Given the description of an element on the screen output the (x, y) to click on. 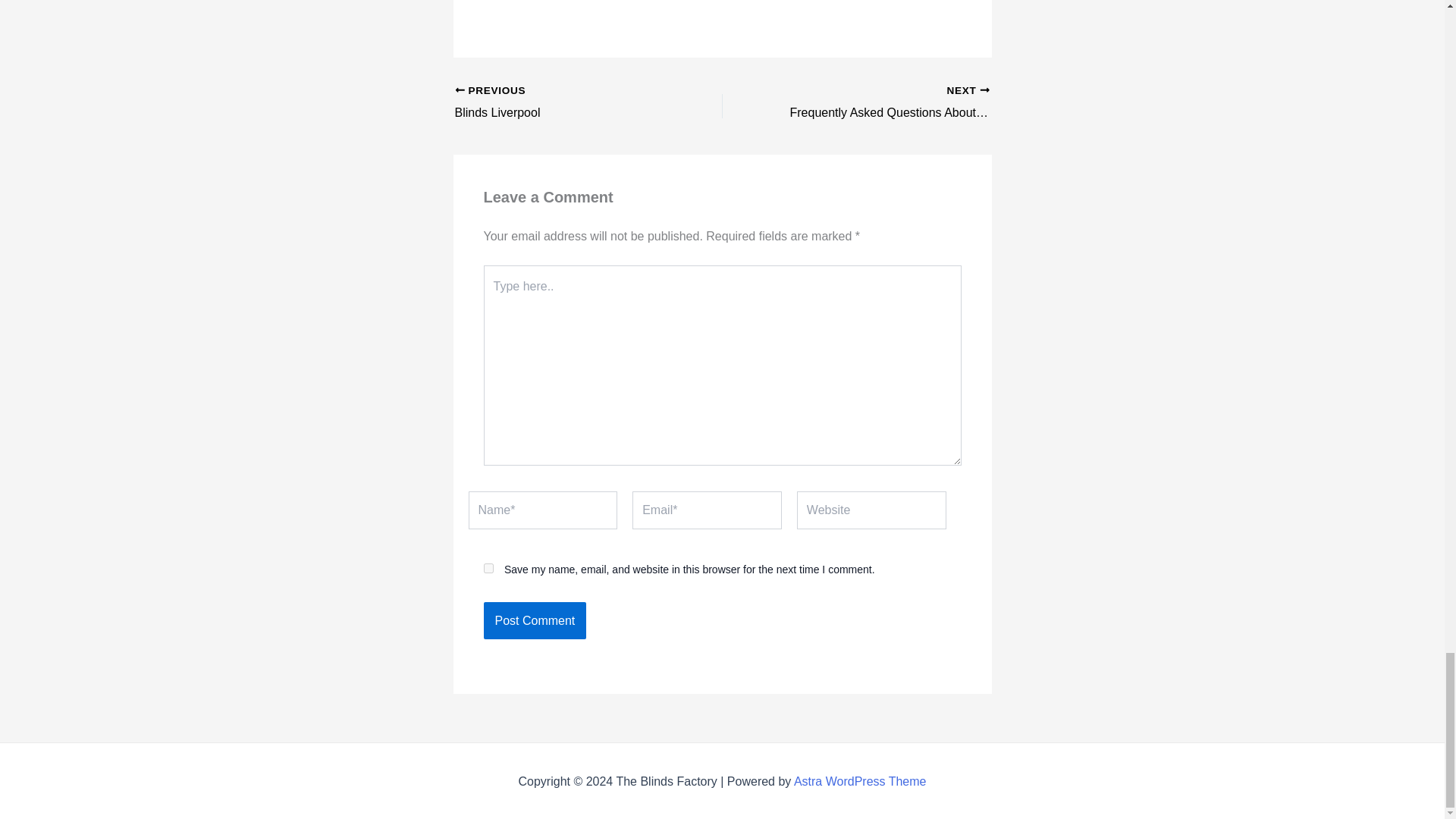
Post Comment (534, 620)
yes (488, 568)
Blinds Liverpool (561, 102)
Frequently Asked Questions About Blinds (882, 102)
